Given the description of an element on the screen output the (x, y) to click on. 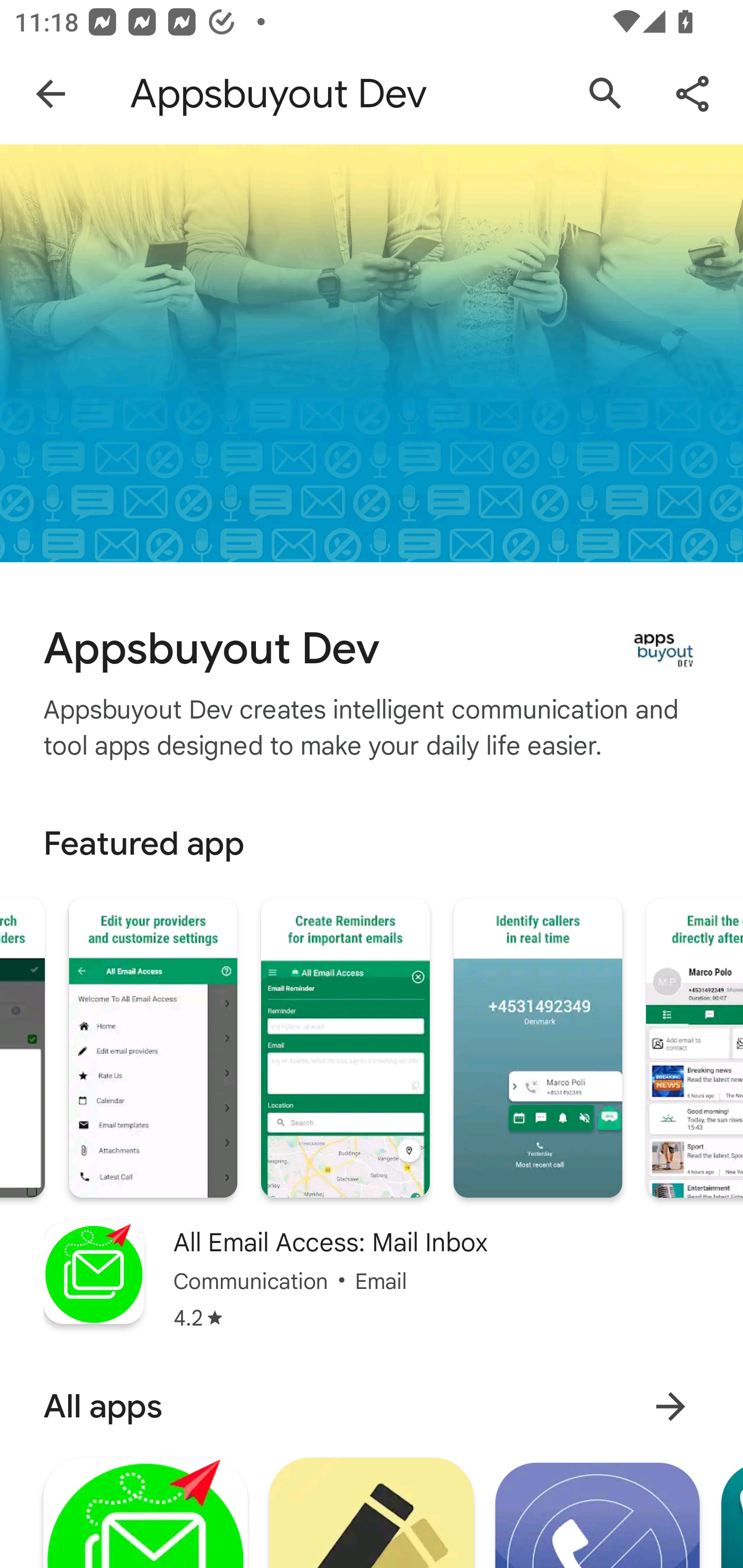
Navigate up (50, 93)
Search Google Play (605, 93)
Share (692, 93)
Screenshot "4" of "7" (152, 1047)
Screenshot "5" of "7" (344, 1047)
Screenshot "6" of "7" (537, 1047)
Screenshot "7" of "7" (694, 1047)
All apps More results for All apps (371, 1406)
More results for All apps (670, 1406)
